Given the description of an element on the screen output the (x, y) to click on. 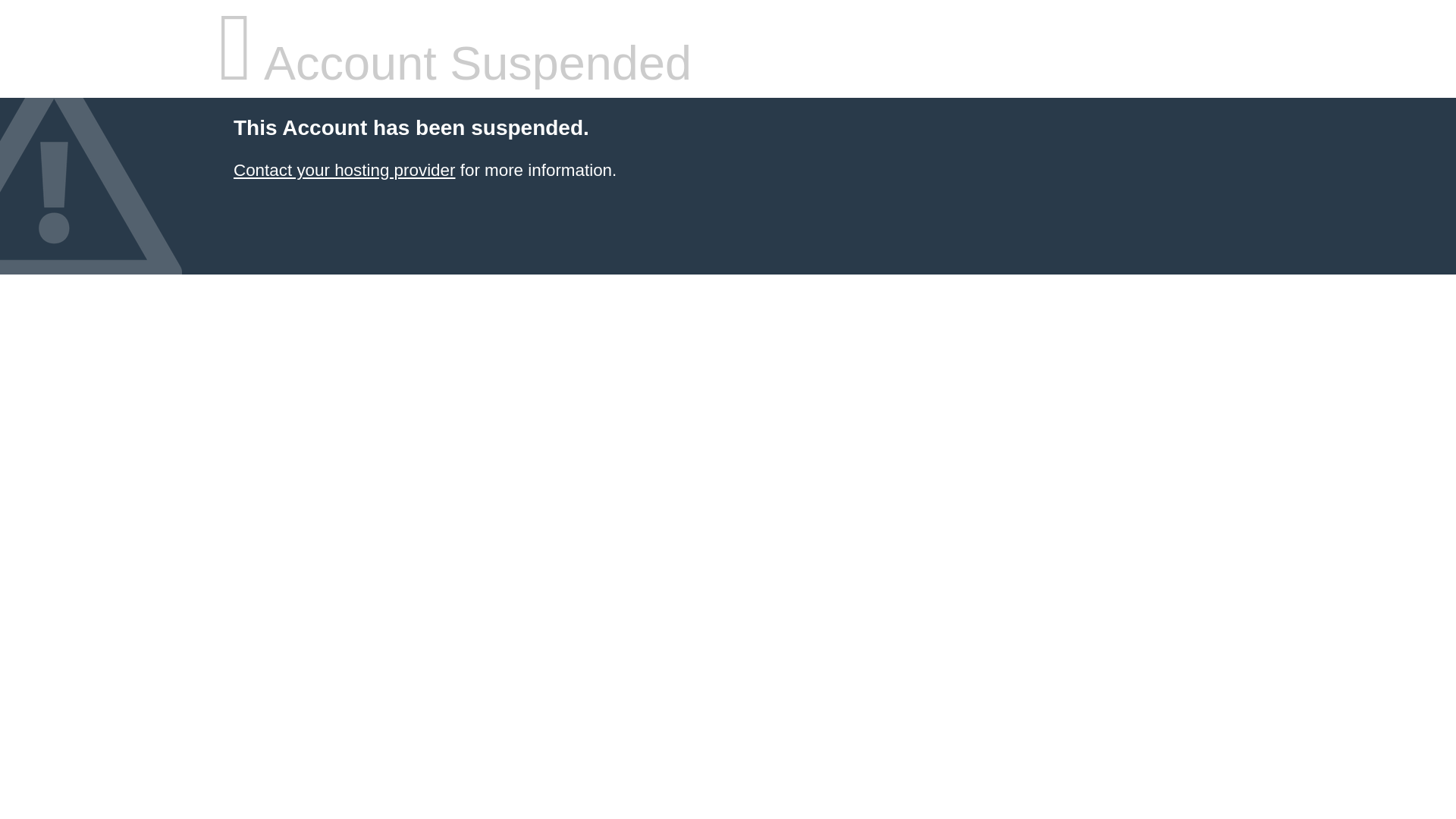
Contact your hosting provider (343, 169)
